Given the description of an element on the screen output the (x, y) to click on. 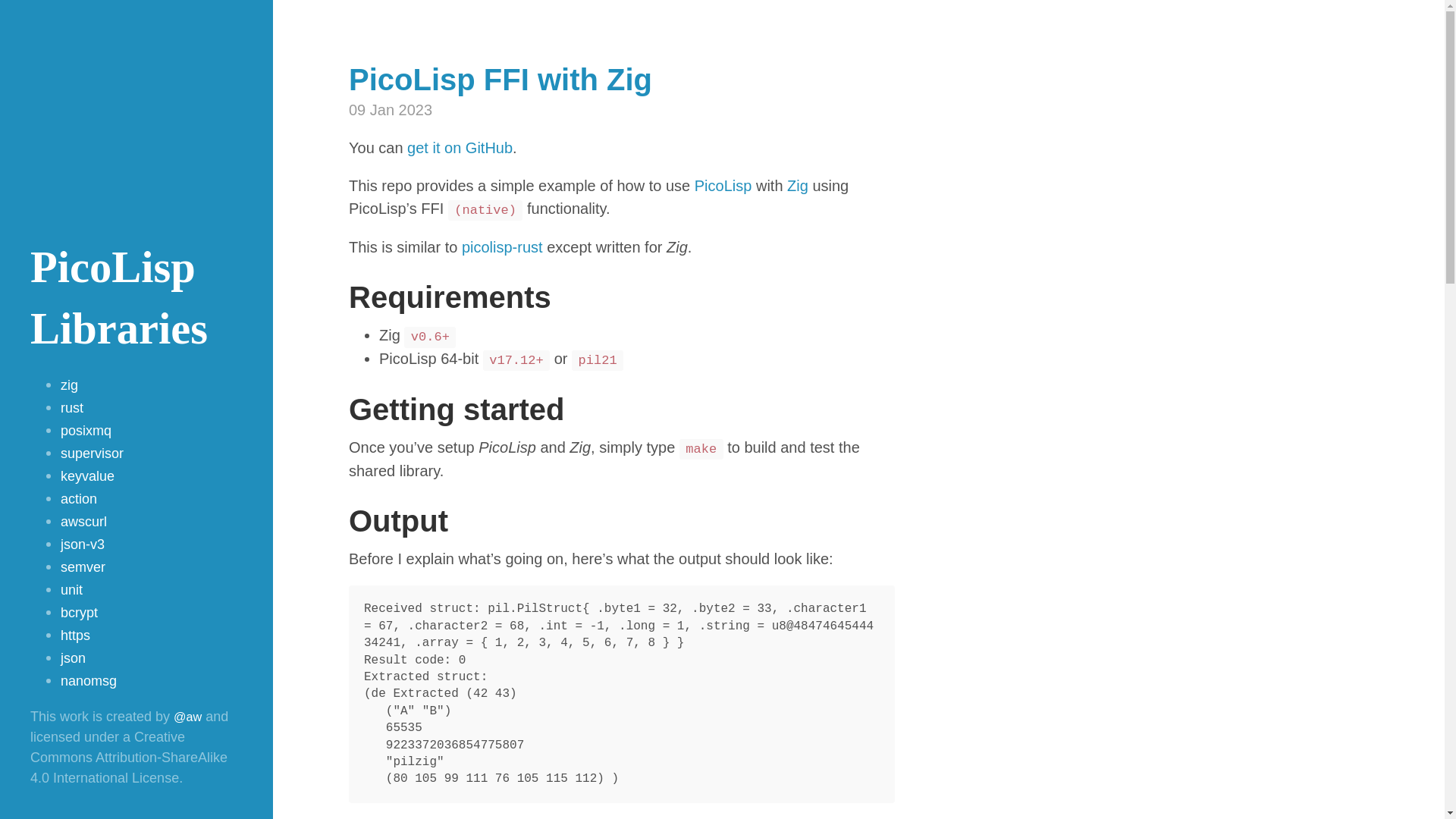
rust Element type: text (71, 407)
https Element type: text (75, 635)
awscurl Element type: text (83, 521)
PicoLisp Libraries Element type: text (118, 297)
keyvalue Element type: text (87, 475)
nanomsg Element type: text (88, 680)
supervisor Element type: text (91, 453)
json-v3 Element type: text (82, 544)
PicoLisp FFI with Zig Element type: text (500, 79)
posixmq Element type: text (85, 430)
semver Element type: text (82, 566)
Zig Element type: text (797, 185)
get it on GitHub Element type: text (459, 147)
unit Element type: text (71, 589)
@aw Element type: text (187, 716)
zig Element type: text (69, 384)
json Element type: text (72, 657)
bcrypt Element type: text (78, 612)
picolisp-rust Element type: text (501, 246)
PicoLisp Element type: text (723, 185)
action Element type: text (78, 498)
